Given the description of an element on the screen output the (x, y) to click on. 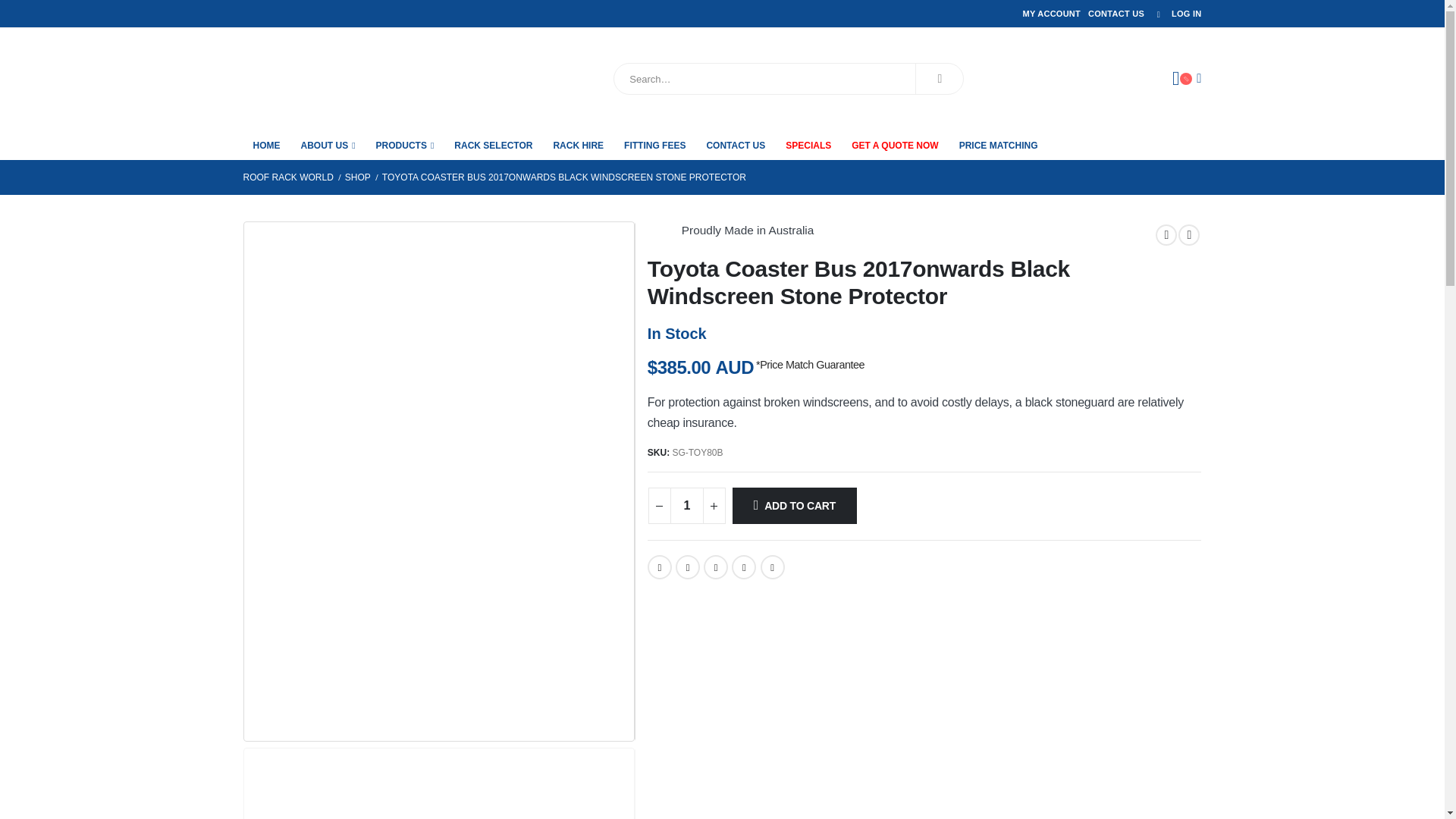
Search (938, 78)
MY ACCOUNT (1050, 13)
Facebook (659, 567)
Email (772, 567)
coasterbusstoneguardblacksunshadeproducts (438, 376)
CONTACT US (1116, 13)
Roof Rack World - SA's largest collection of roofracks (328, 78)
1 (686, 505)
ABOUT US (328, 144)
LinkedIn (715, 567)
